Given the description of an element on the screen output the (x, y) to click on. 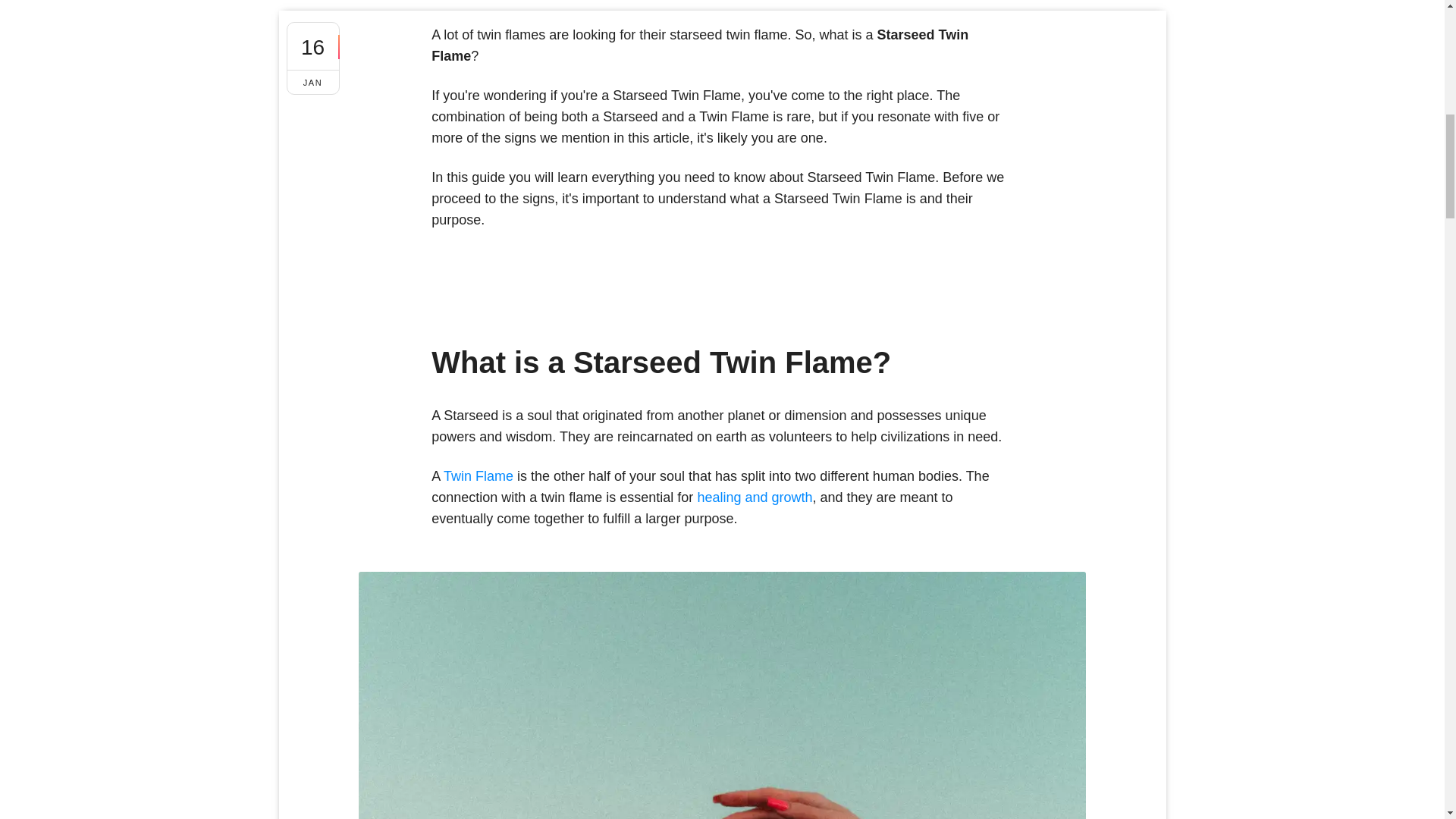
Twin Flame (478, 476)
healing and growth (754, 497)
